Given the description of an element on the screen output the (x, y) to click on. 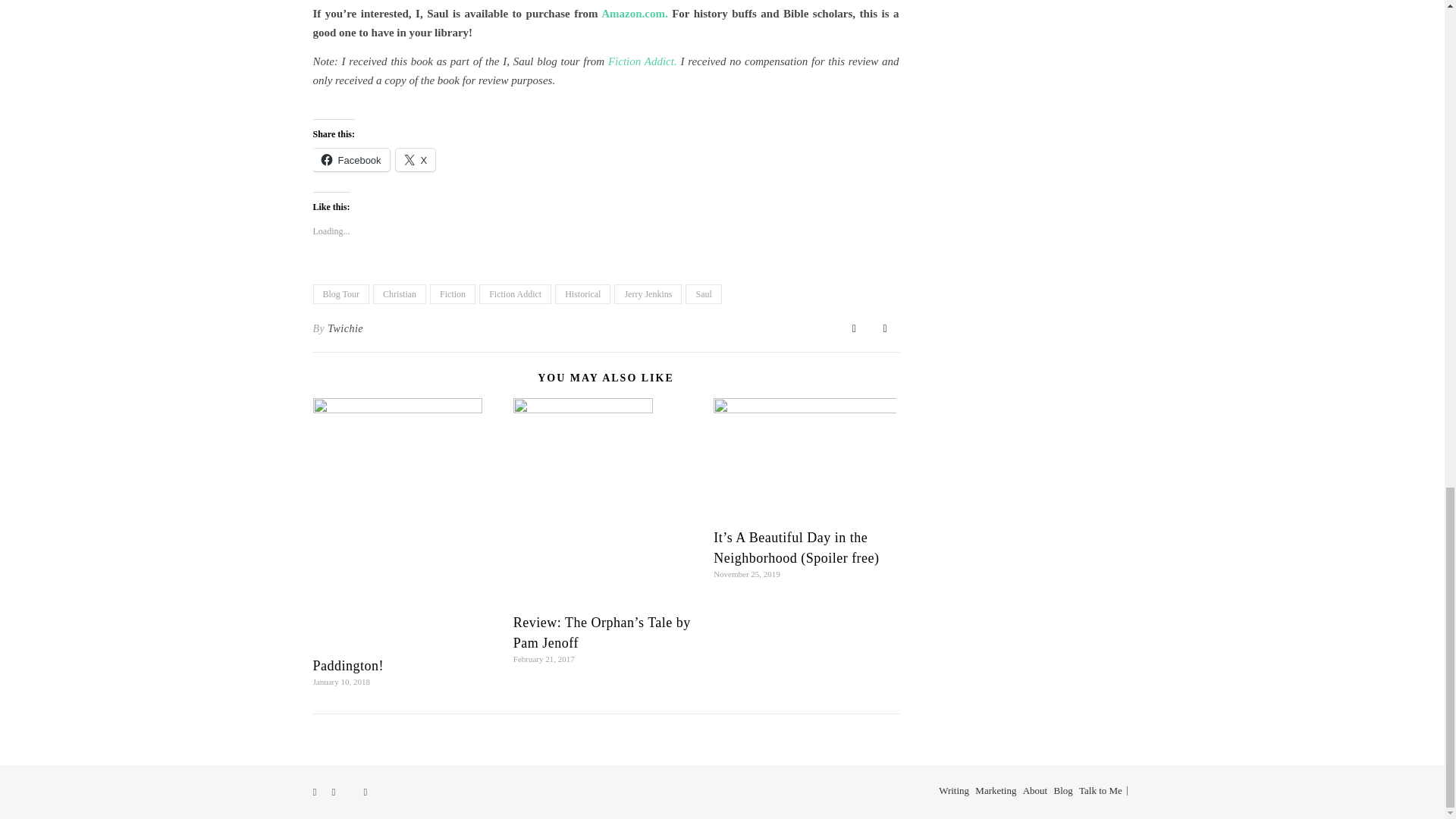
Christian (399, 293)
Amazon.com. (633, 13)
Fiction Addict. (642, 60)
Fiction (452, 293)
Posts by Twichie (344, 328)
Saul (702, 293)
Click to share on X (415, 159)
Facebook (350, 159)
Historical (582, 293)
Twichie (344, 328)
